Given the description of an element on the screen output the (x, y) to click on. 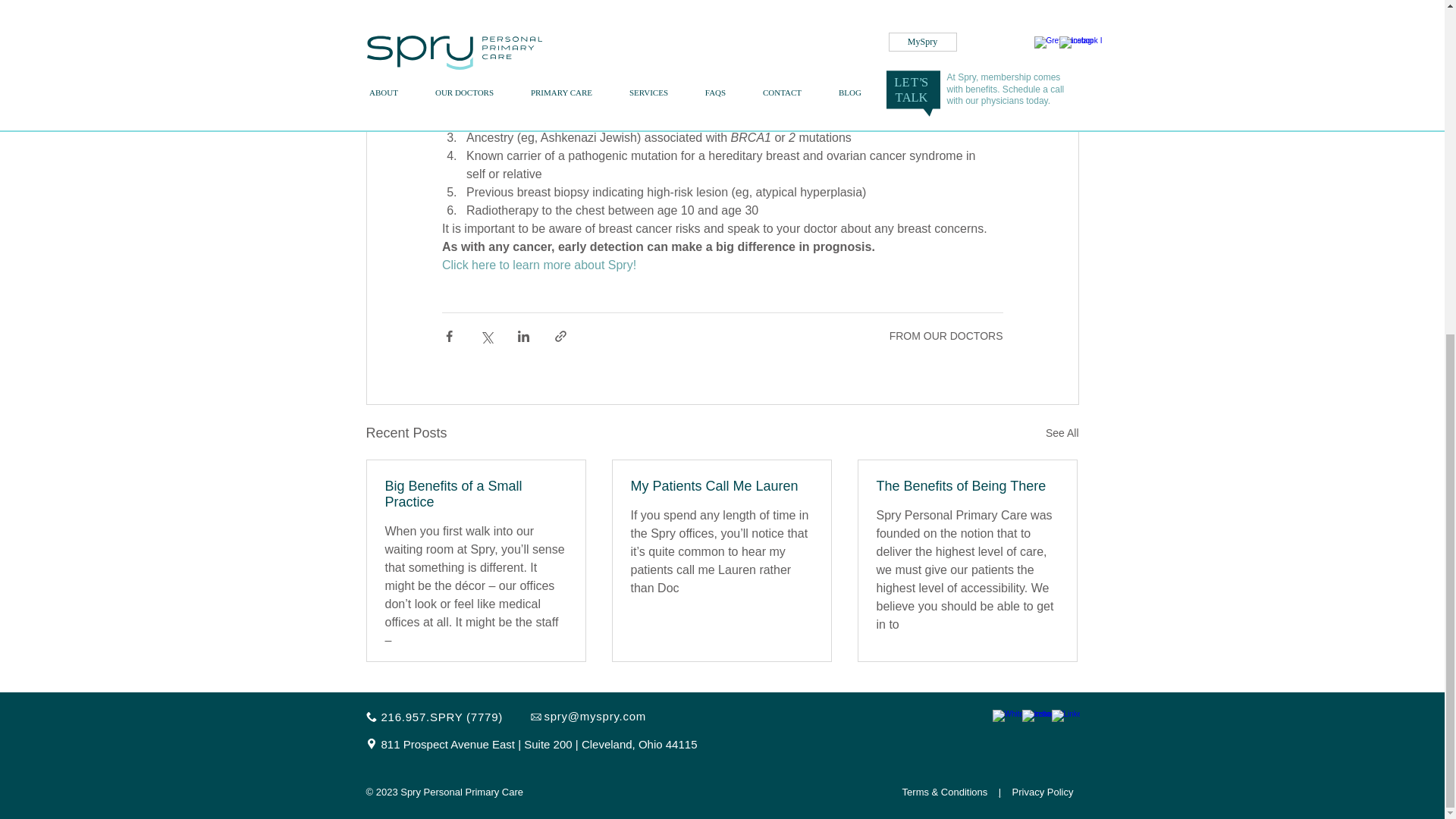
Click here to learn more about Spry! (537, 264)
FROM OUR DOCTORS (946, 336)
See All (1061, 433)
My Patients Call Me Lauren (721, 486)
The Benefits of Being There (967, 486)
Big Benefits of a Small Practice (476, 494)
